Given the description of an element on the screen output the (x, y) to click on. 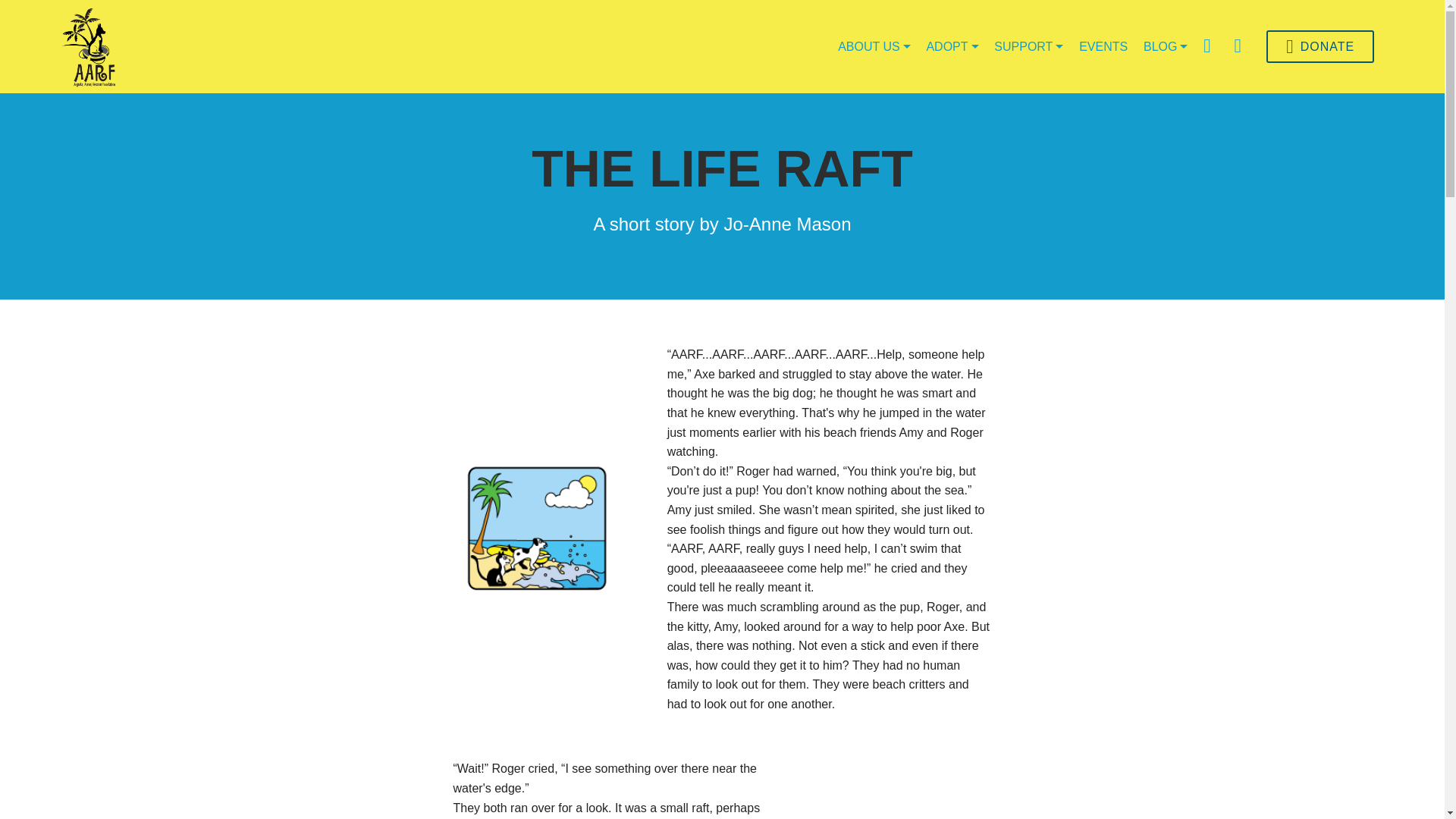
EVENTS (1102, 45)
ADOPT (952, 45)
SUPPORT (1028, 45)
BLOG (1165, 45)
DONATE (1320, 46)
ABOUT US (874, 45)
